Given the description of an element on the screen output the (x, y) to click on. 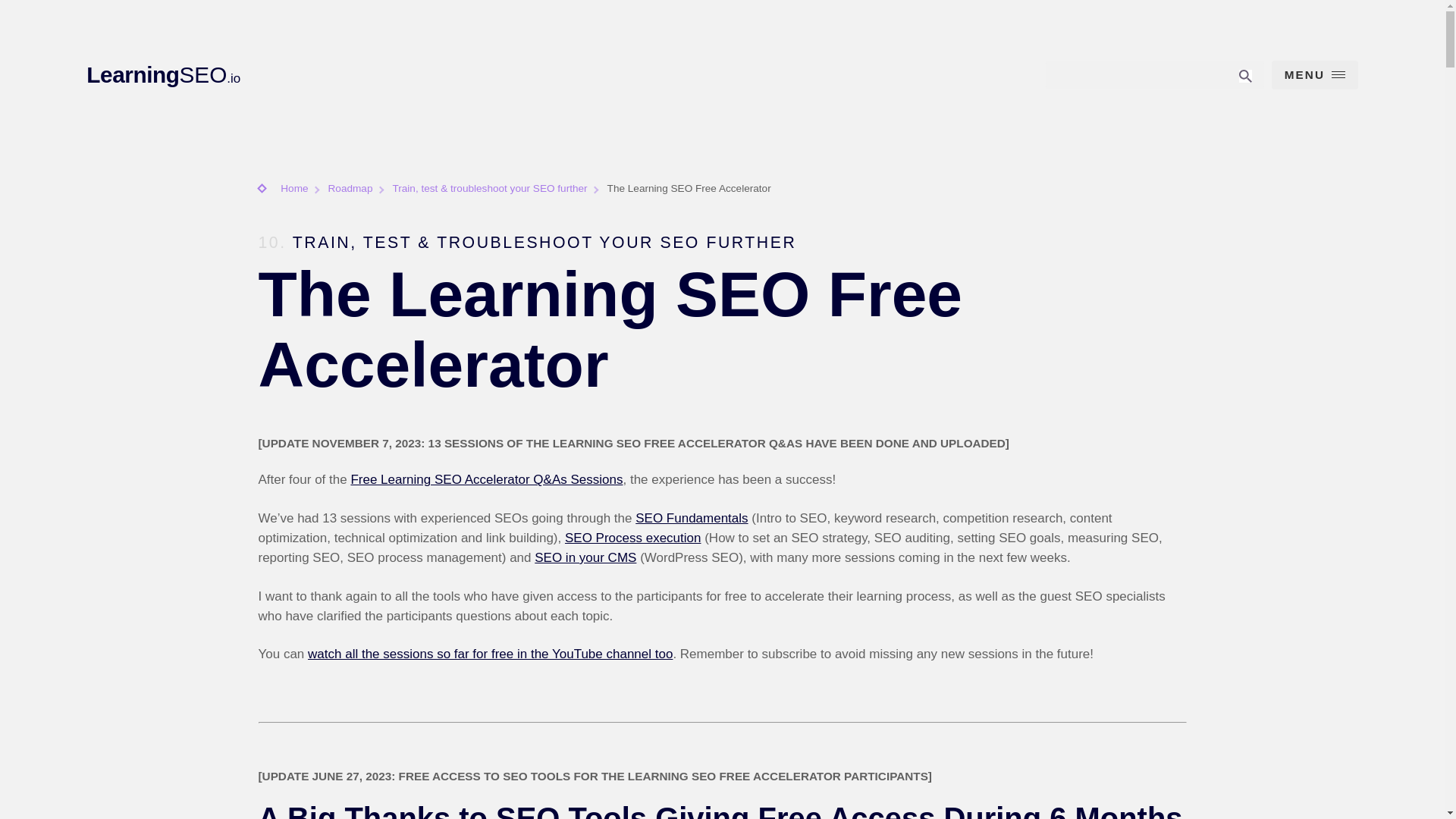
Roadmap (350, 188)
SEO Fundamentals (691, 518)
SEO in your CMS (585, 557)
LearningSEO.io (162, 74)
SEO Process execution (632, 537)
Home (294, 188)
LearningSEO.io (162, 74)
